Given the description of an element on the screen output the (x, y) to click on. 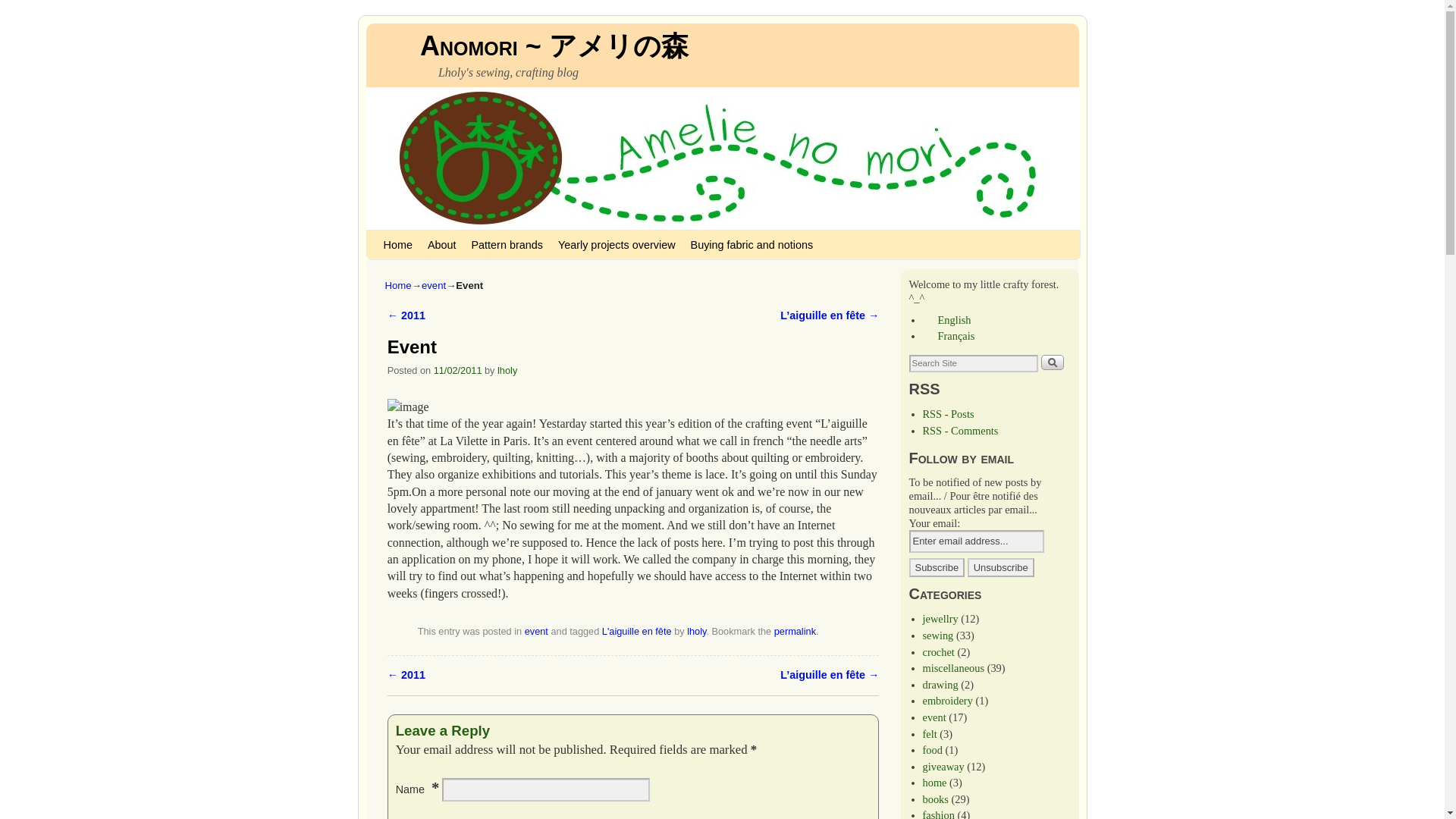
jewellry (939, 618)
Home (397, 244)
Unsubscribe (1000, 567)
lholy (506, 369)
permalink (794, 631)
lholy (696, 631)
Pattern brands (507, 244)
About (442, 244)
home (933, 782)
11:50 (457, 369)
